Given the description of an element on the screen output the (x, y) to click on. 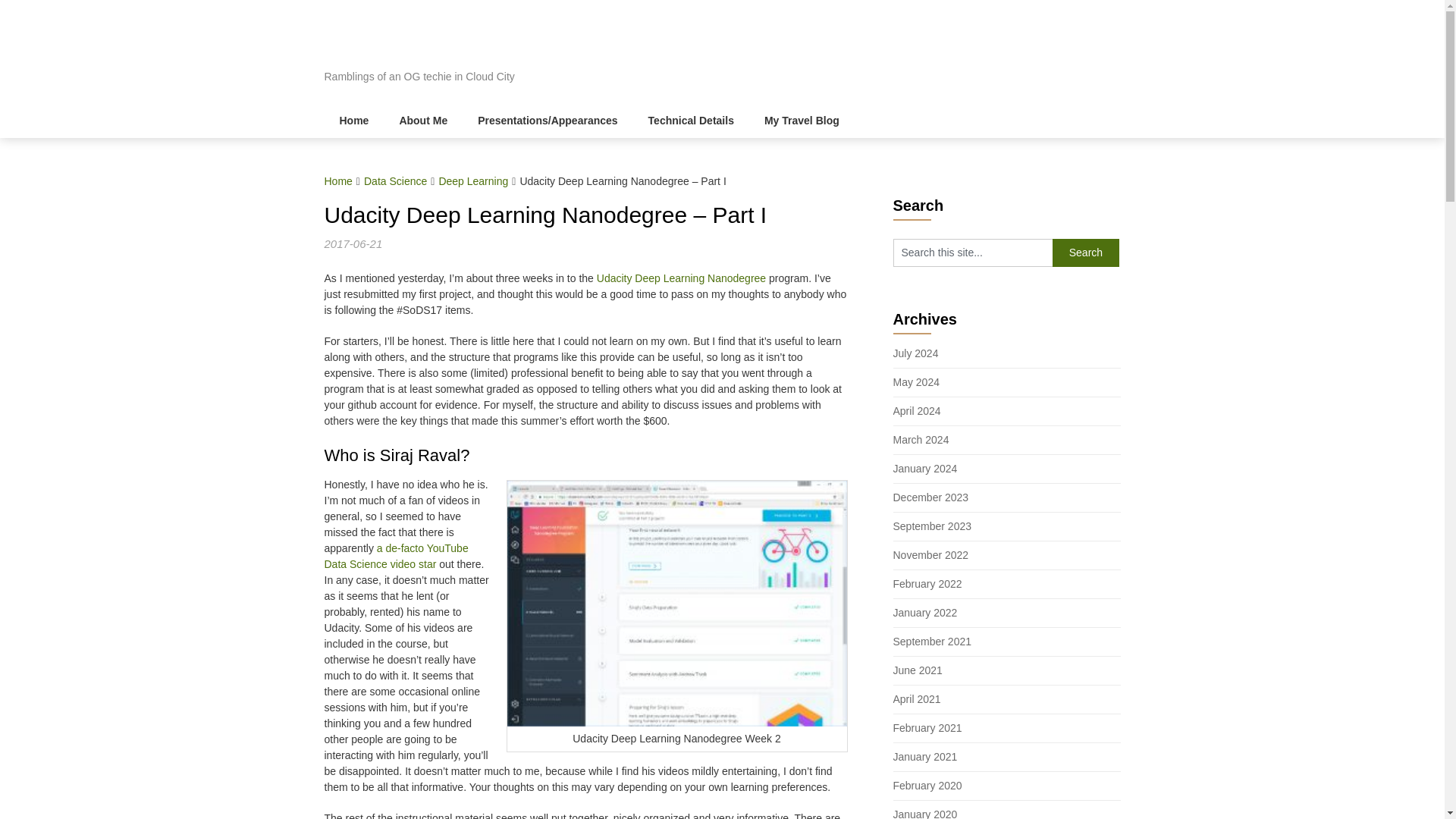
March 2024 (921, 439)
My Travel Blog (801, 121)
Home (354, 121)
January 2024 (925, 468)
July 2024 (916, 353)
May 2024 (916, 381)
Home (338, 181)
April 2024 (916, 410)
Udacity Deep Learning Nanodegree (680, 277)
Michael Gat (413, 41)
